Given the description of an element on the screen output the (x, y) to click on. 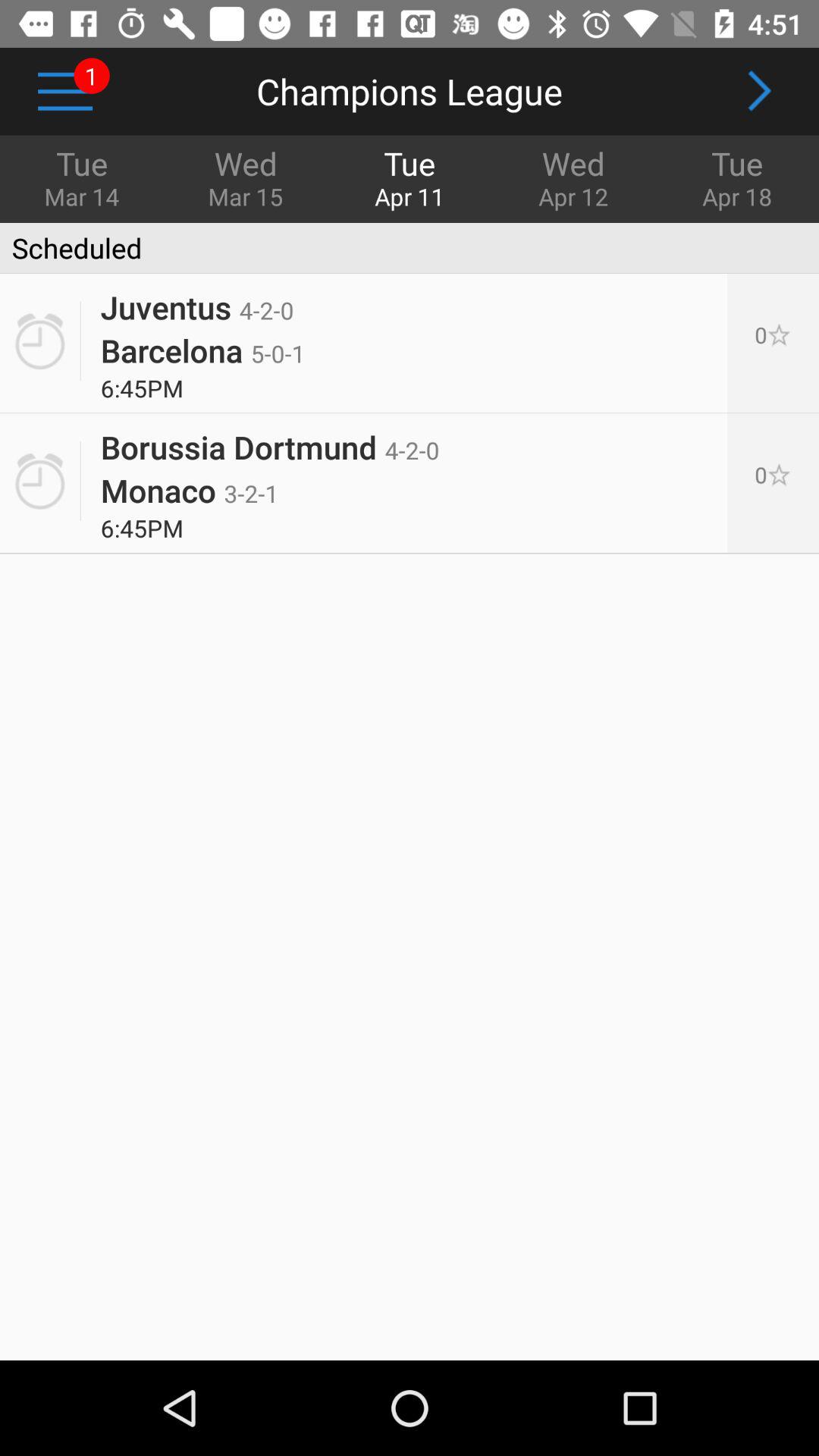
launch the item next to wed
mar 15 icon (81, 176)
